Given the description of an element on the screen output the (x, y) to click on. 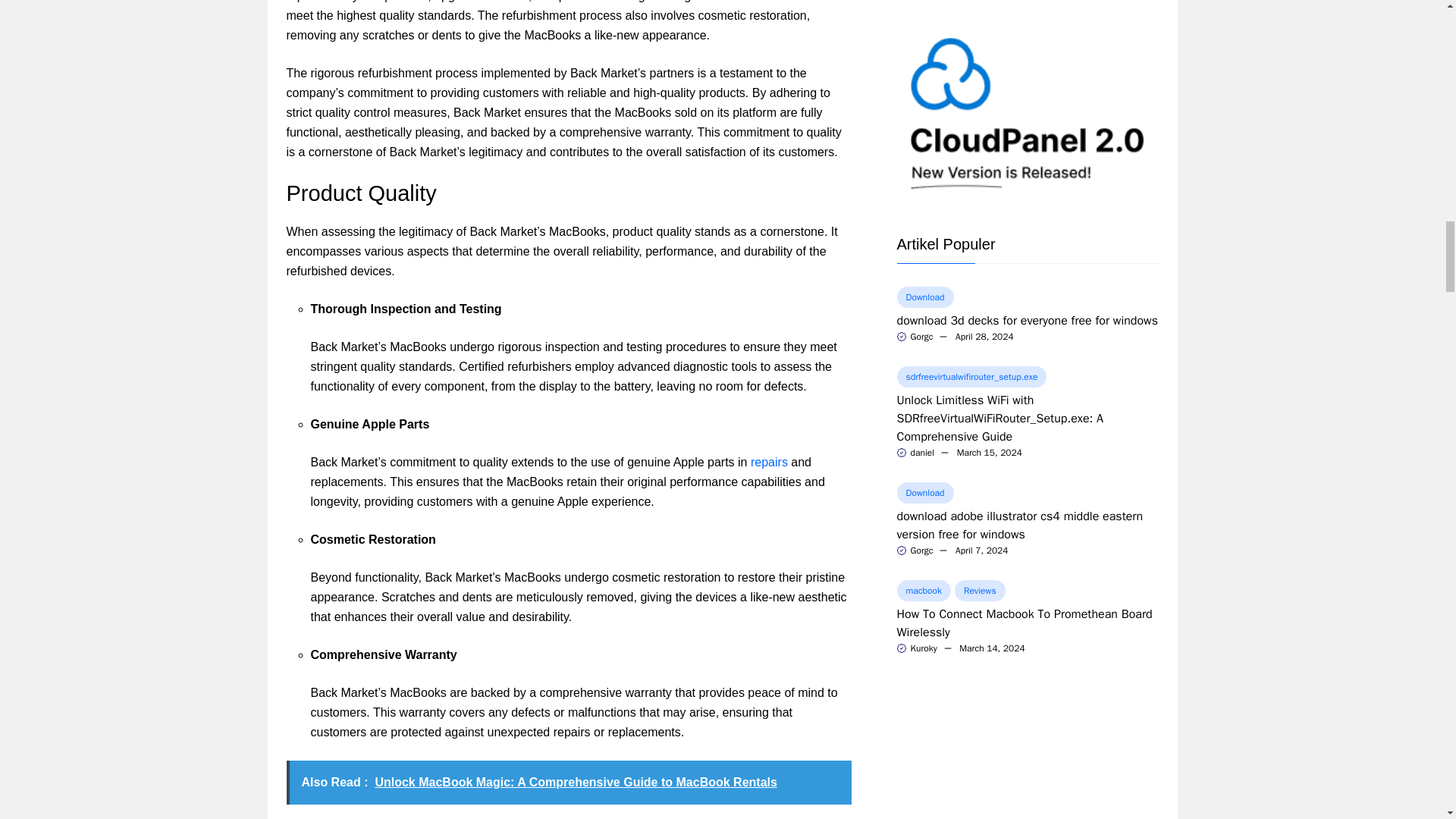
repairs (769, 461)
